Given the description of an element on the screen output the (x, y) to click on. 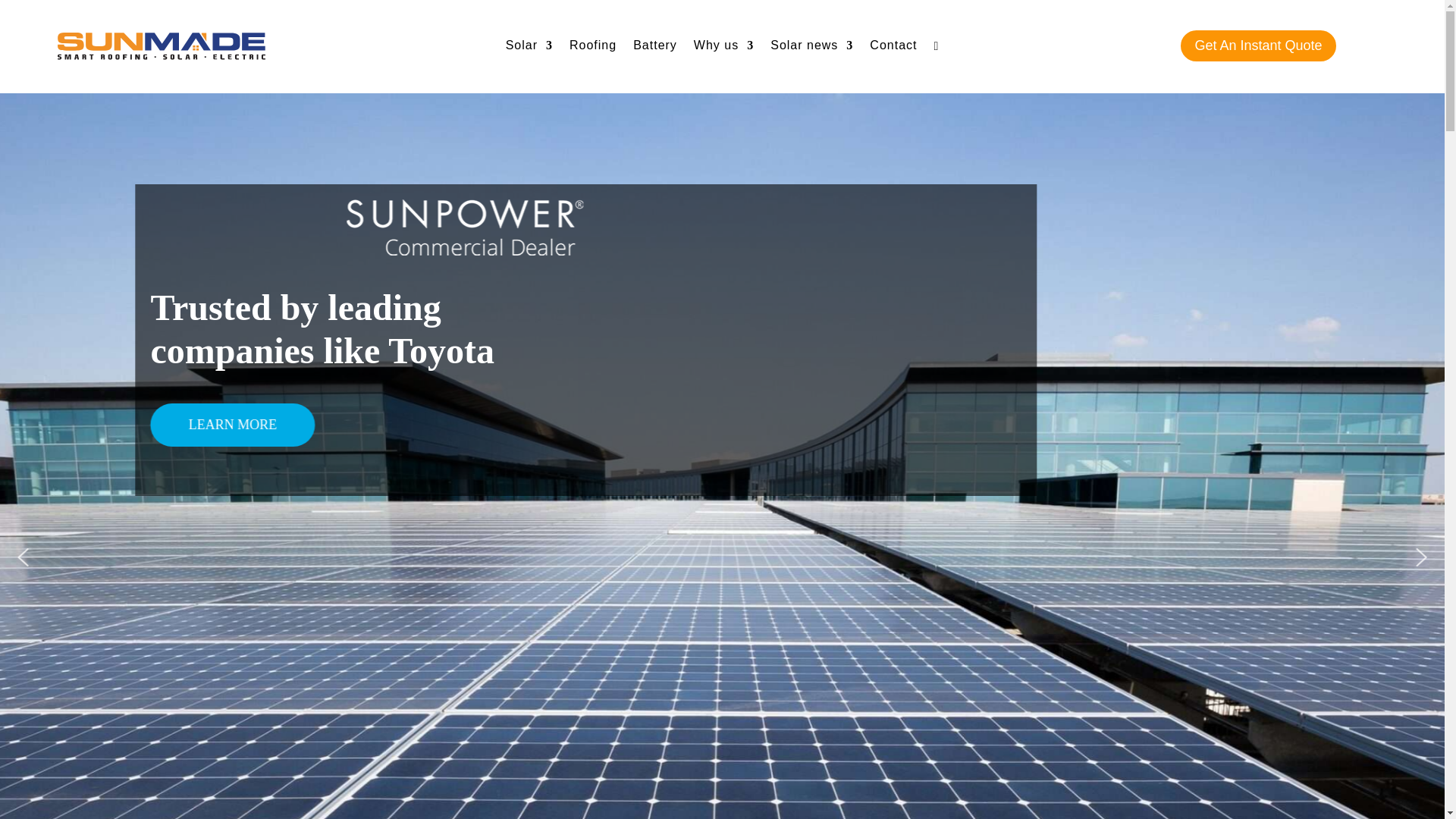
sunmade-logo (161, 45)
Contact (893, 49)
Roofing (592, 49)
Battery (655, 49)
LEARN MORE (233, 424)
Why us (724, 49)
Solar (529, 49)
Solar news (811, 49)
Get An Instant Quote (1257, 45)
